Given the description of an element on the screen output the (x, y) to click on. 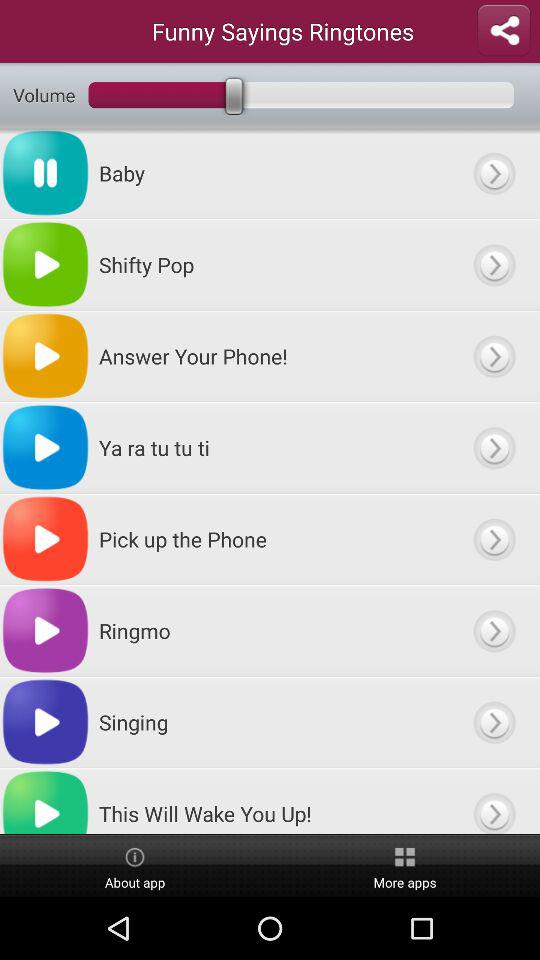
select ringmo (494, 630)
